Given the description of an element on the screen output the (x, y) to click on. 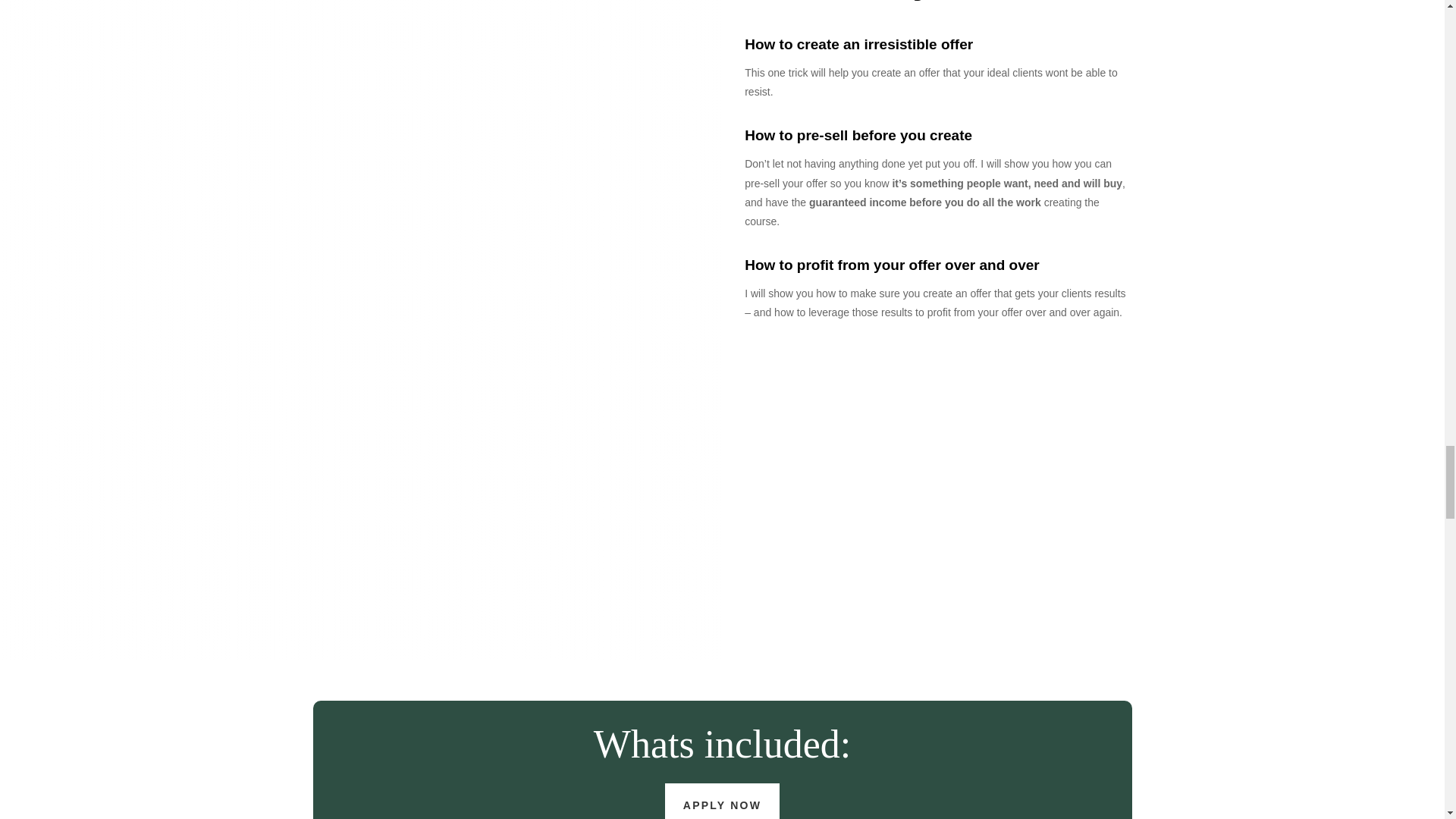
APPLY NOW (721, 800)
